Given the description of an element on the screen output the (x, y) to click on. 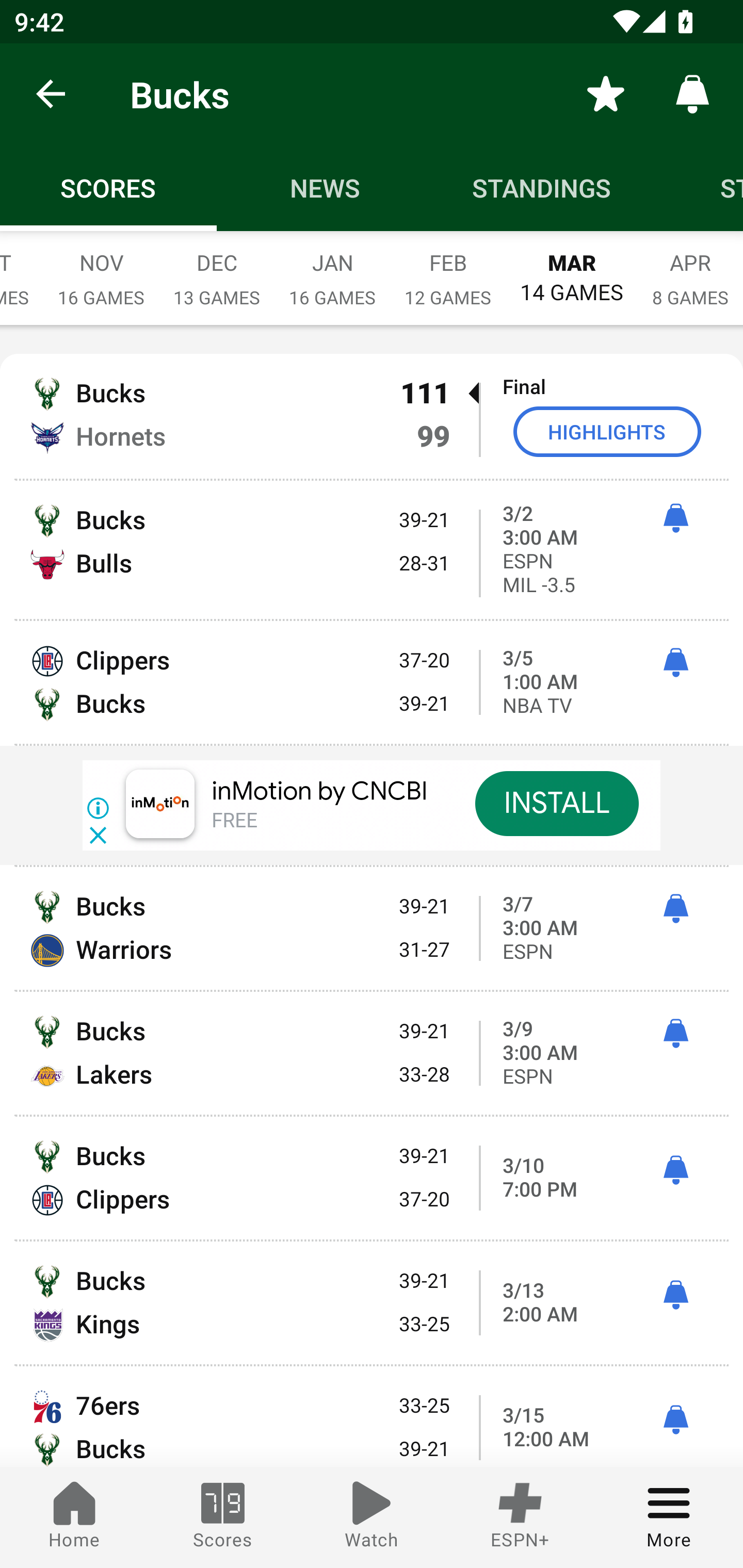
back.button (50, 93)
Favorite toggle (605, 93)
Alerts (692, 93)
News NEWS (324, 187)
Standings STANDINGS (541, 187)
NOV 16 GAMES (101, 268)
DEC 13 GAMES (216, 268)
JAN 16 GAMES (332, 268)
FEB 12 GAMES (447, 268)
MAR 14 GAMES (571, 267)
APR 8 GAMES (690, 268)
Bucks 111  Final Hornets 99 HIGHLIGHTS (371, 416)
HIGHLIGHTS (607, 431)
ì (675, 517)
Clippers 37-20 Bucks 39-21 3/5 1:00 AM ì NBA TV (371, 681)
ì (675, 662)
INSTALL (556, 803)
inMotion by CNCBI (319, 791)
FREE (234, 821)
Bucks 39-21 Warriors 31-27 3/7 3:00 AM ì ESPN (371, 928)
ì (675, 908)
Bucks 39-21 Lakers 33-28 3/9 3:00 AM ì ESPN (371, 1053)
ì (675, 1033)
Bucks 39-21 Clippers 37-20 3/10 7:00 PM ì (371, 1177)
ì (675, 1170)
Bucks 39-21 Kings 33-25 3/13 2:00 AM ì (371, 1302)
ì (675, 1295)
76ers 33-25 Bucks 39-21 3/15 12:00 AM ì (371, 1416)
ì (675, 1419)
Home (74, 1517)
Scores (222, 1517)
Watch (371, 1517)
ESPN+ (519, 1517)
